Given the description of an element on the screen output the (x, y) to click on. 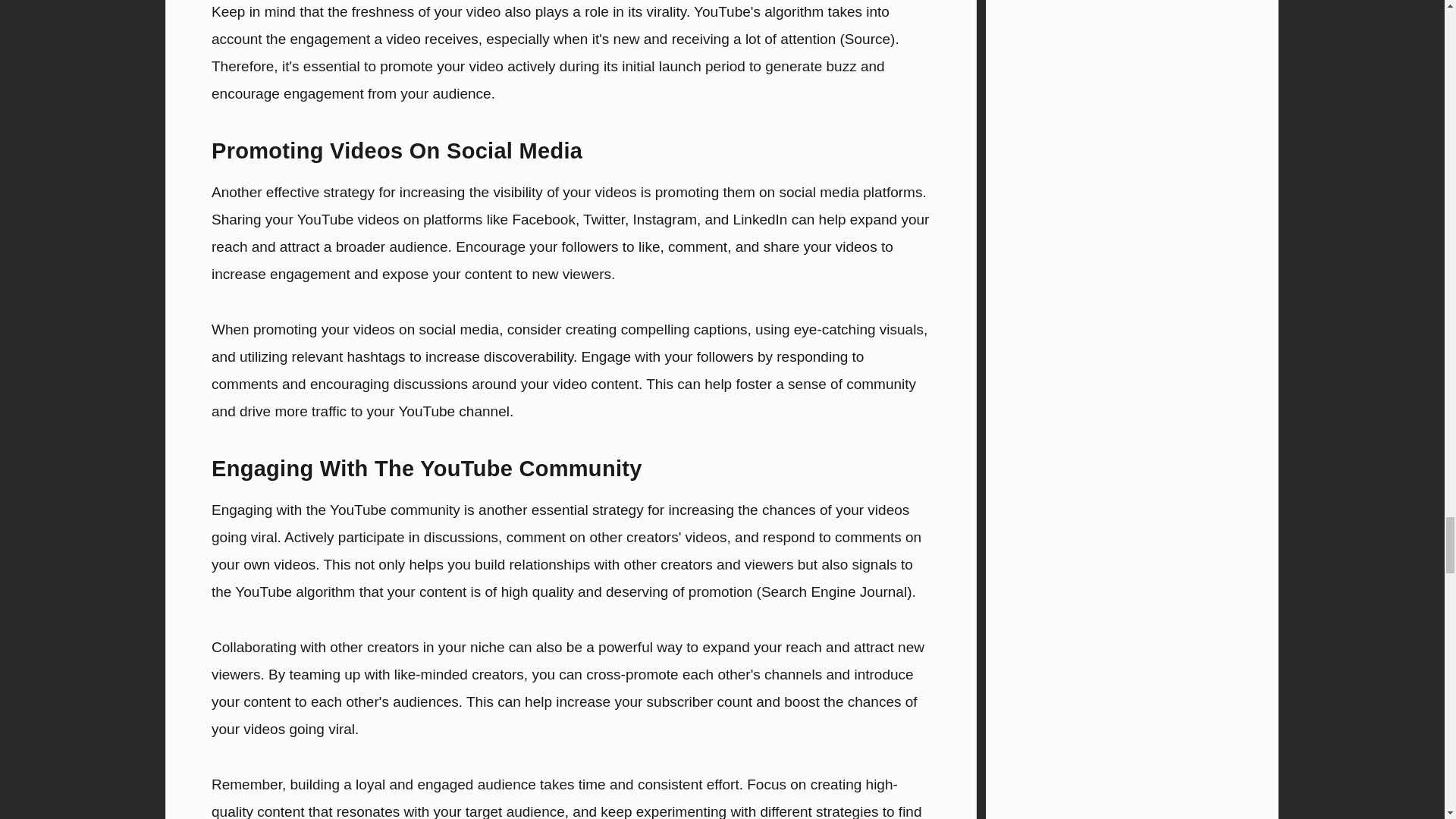
Search Engine Journal (834, 591)
YouTube videos (347, 219)
Source (866, 38)
essential strategy for increasing the chances of your videos (720, 509)
